Given the description of an element on the screen output the (x, y) to click on. 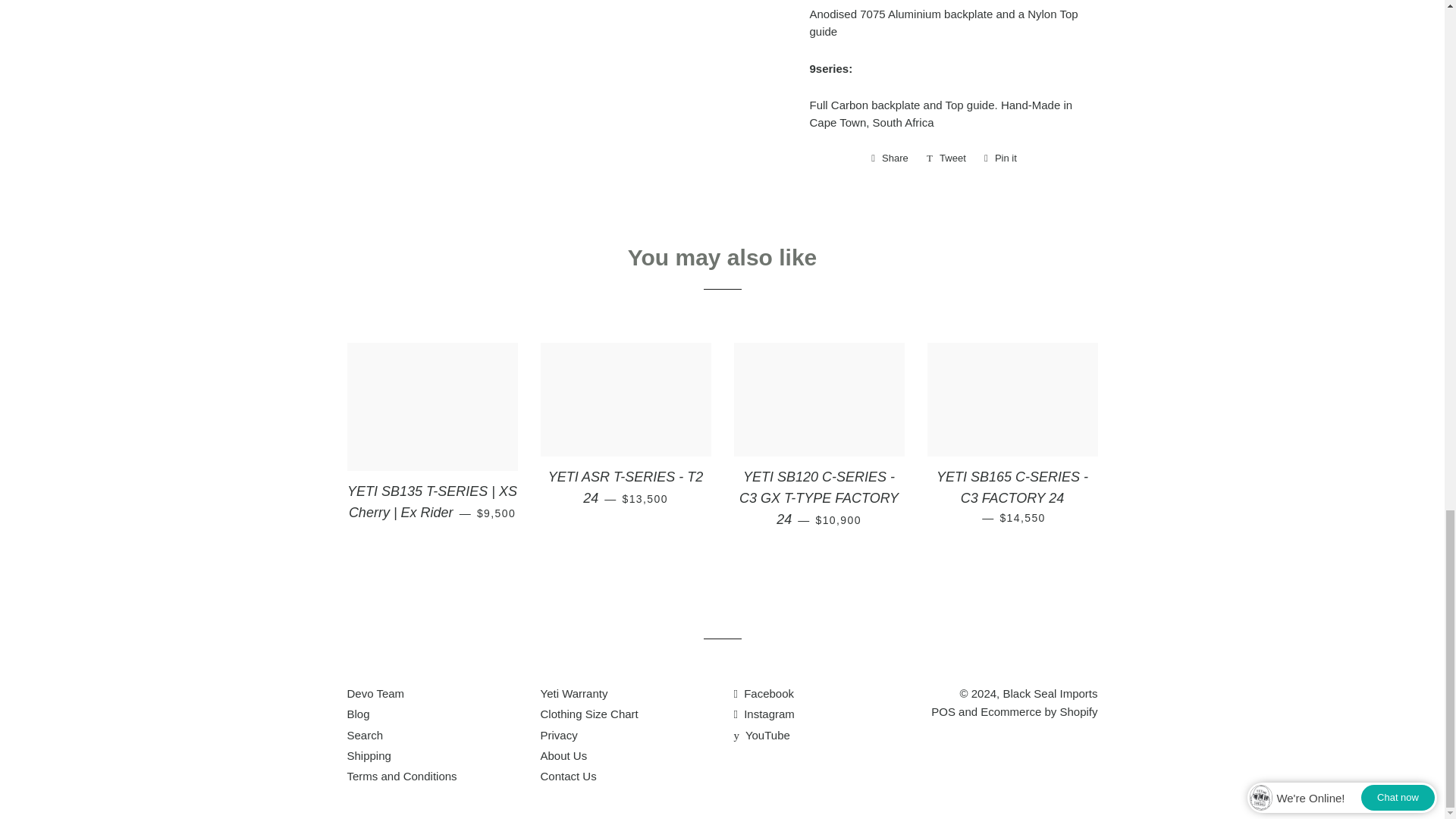
Black Seal Imports on Facebook (763, 693)
Black Seal Imports on Instagram (763, 713)
Pin on Pinterest (1000, 158)
Black Seal Imports on YouTube (761, 735)
Share on Facebook (889, 158)
Tweet on Twitter (946, 158)
